Given the description of an element on the screen output the (x, y) to click on. 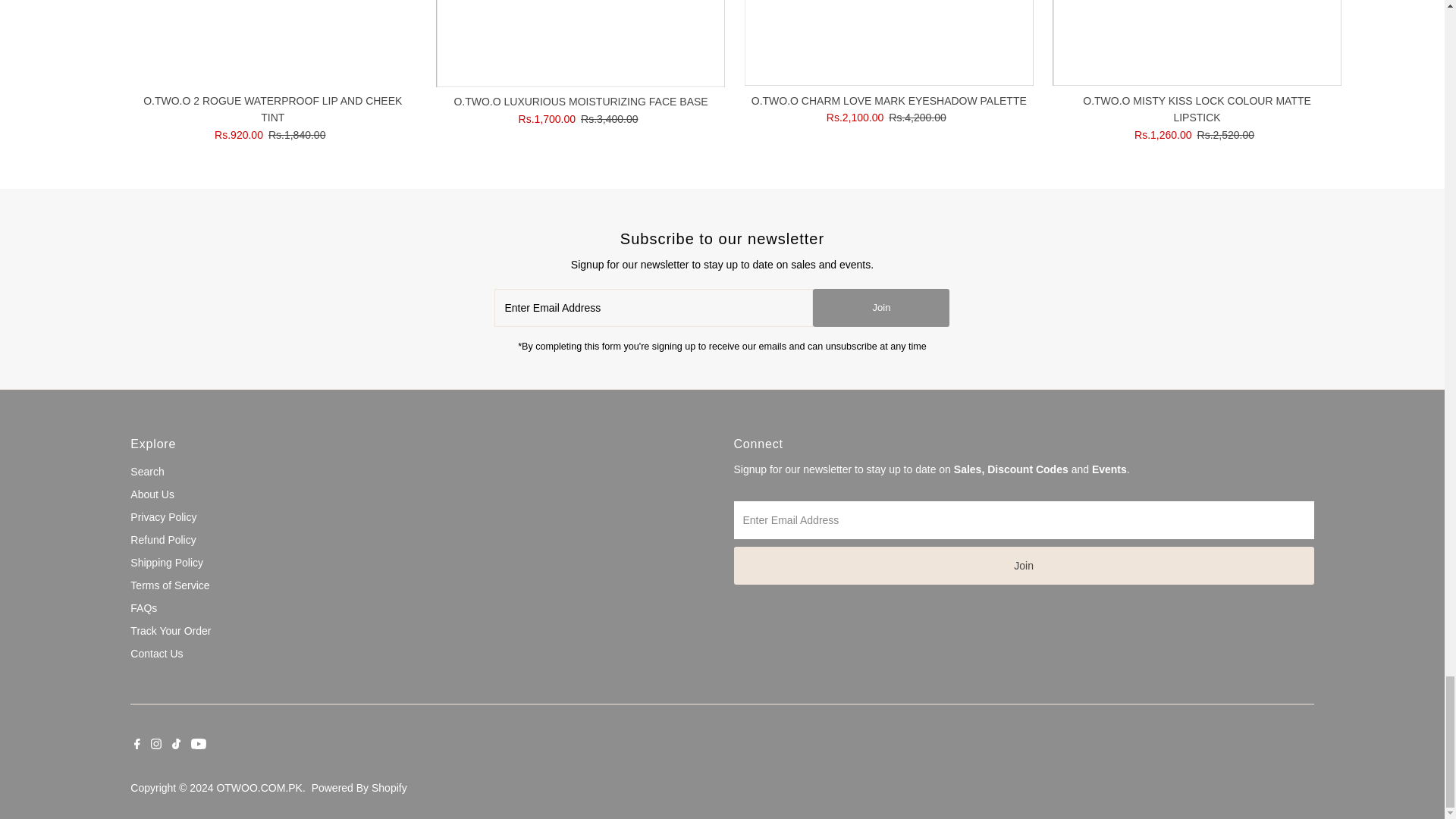
O.TWO.O CHARM LOVE MARK EYESHADOW PALETTE (888, 43)
O.TWO.O 2 ROGUE WATERPROOF LIP AND CHEEK TINT (272, 43)
O.TWO.O MISTY KISS LOCK COLOUR MATTE LIPSTICK (1196, 43)
O.TWO.O LUXURIOUS MOISTURIZING FACE BASE (580, 43)
